Given the description of an element on the screen output the (x, y) to click on. 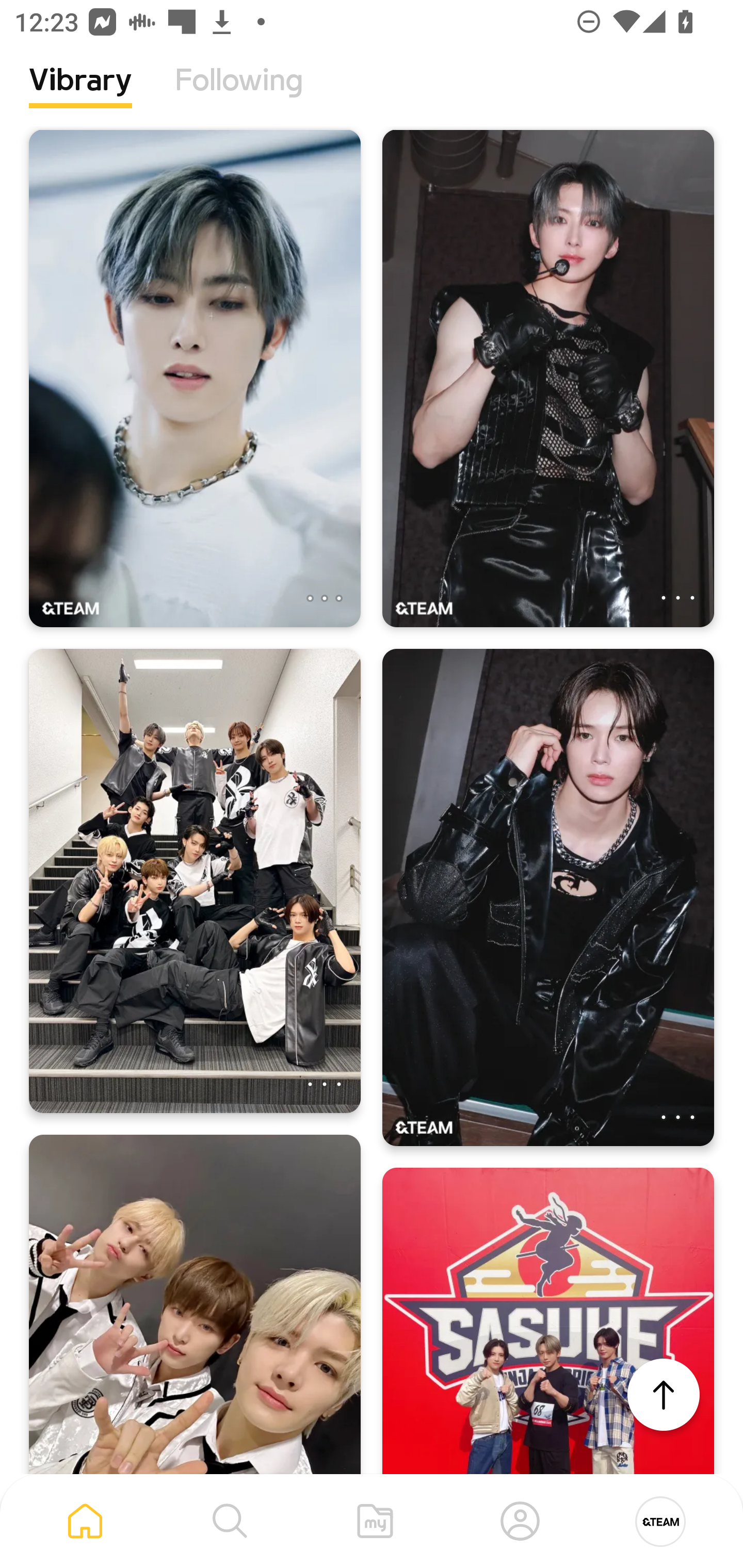
Vibrary (80, 95)
Following (239, 95)
